Given the description of an element on the screen output the (x, y) to click on. 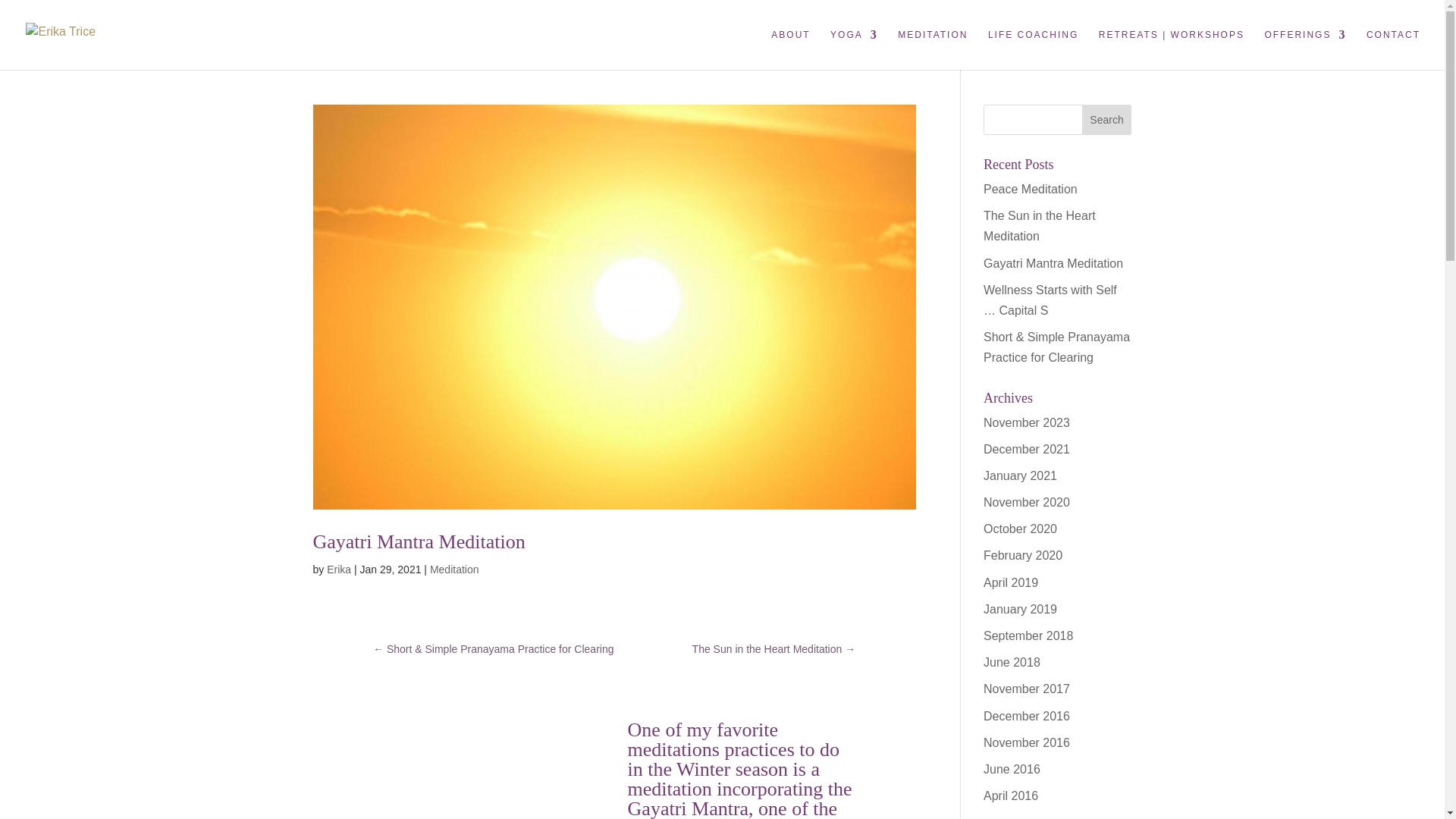
Peace Meditation (1030, 188)
December 2021 (1027, 449)
January 2019 (1020, 608)
Search (1106, 119)
October 2020 (1020, 528)
LIFE COACHING (1033, 49)
The Sun in the Heart Meditation (1040, 225)
February 2020 (1023, 554)
September 2018 (1028, 635)
Gayatri Mantra Meditation (418, 541)
